Given the description of an element on the screen output the (x, y) to click on. 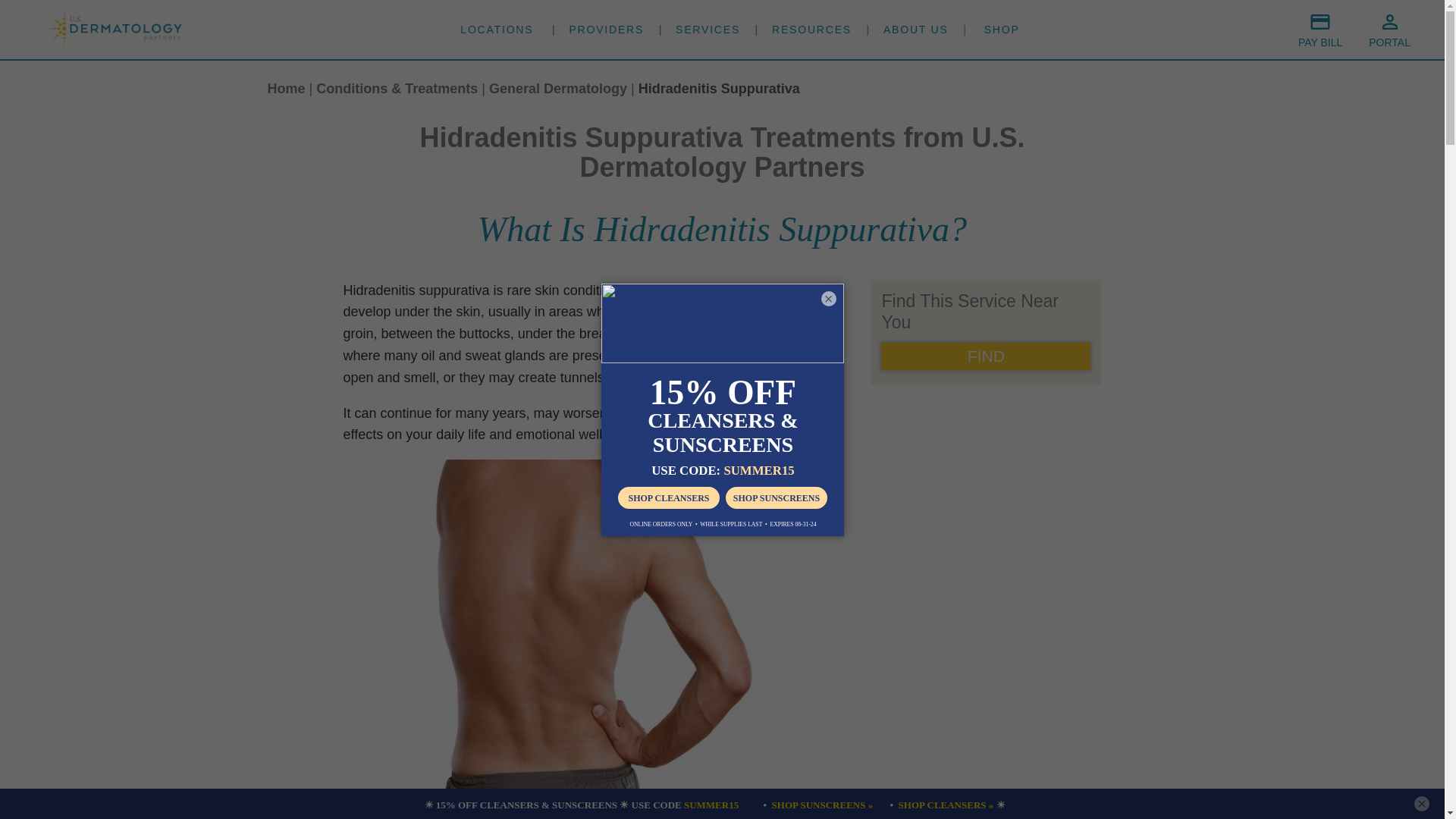
PAY BILL (1320, 29)
PROVIDERS (606, 29)
SERVICES (707, 29)
U.S. Dermatology Partners Home Page (113, 42)
PORTAL (1389, 29)
RESOURCES (811, 29)
LOCATIONS (496, 29)
ABOUT US (916, 29)
Home (285, 88)
